Given the description of an element on the screen output the (x, y) to click on. 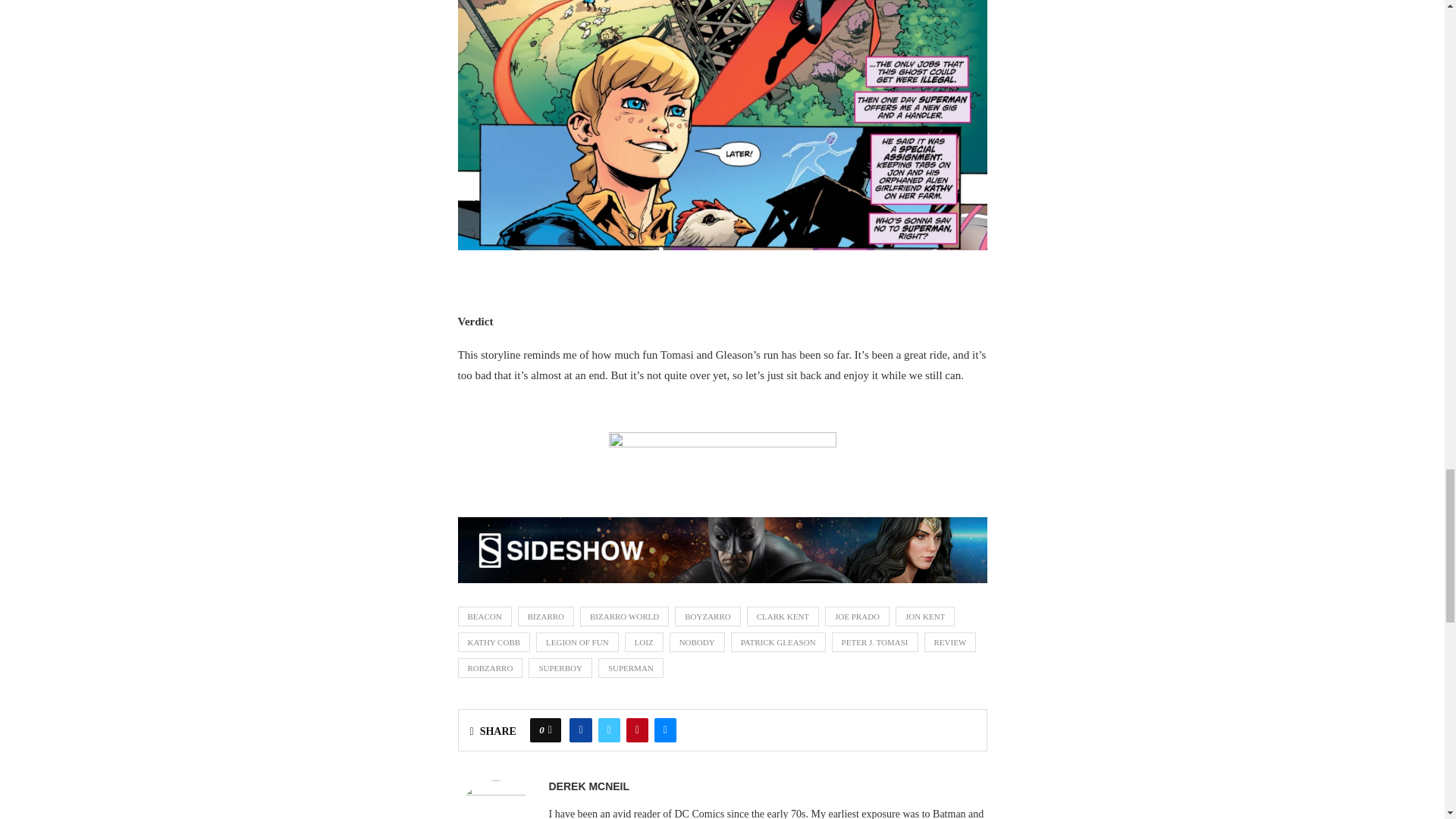
Author Derek McNeil (589, 786)
